Given the description of an element on the screen output the (x, y) to click on. 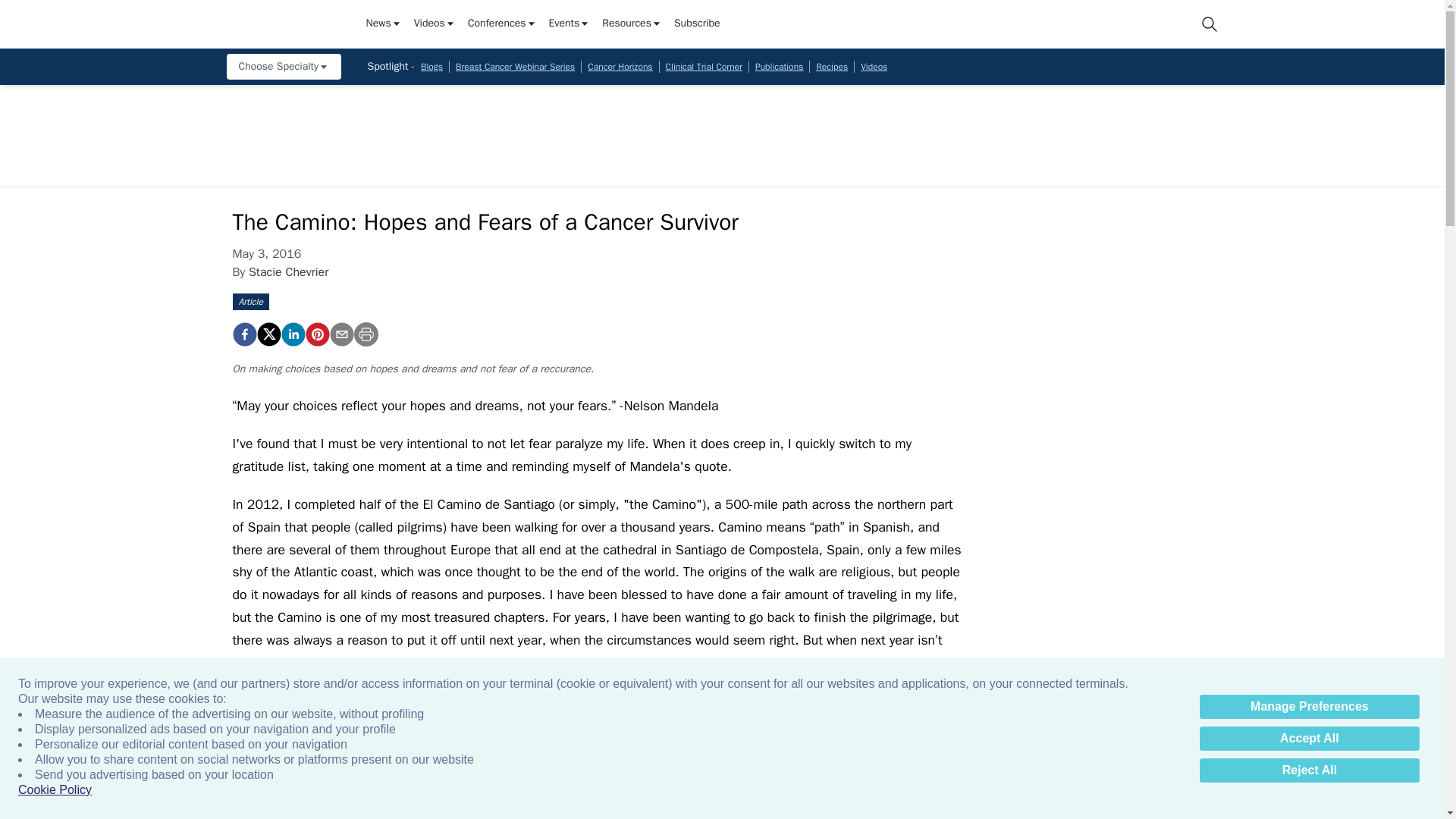
Cookie Policy (54, 789)
Events (569, 23)
The Camino: Hopes and Fears of a Cancer Survivor (243, 334)
Manage Preferences (1309, 706)
Accept All (1309, 738)
News (383, 23)
Conferences (502, 23)
Resources (632, 23)
Videos (434, 23)
Reject All (1309, 769)
